Given the description of an element on the screen output the (x, y) to click on. 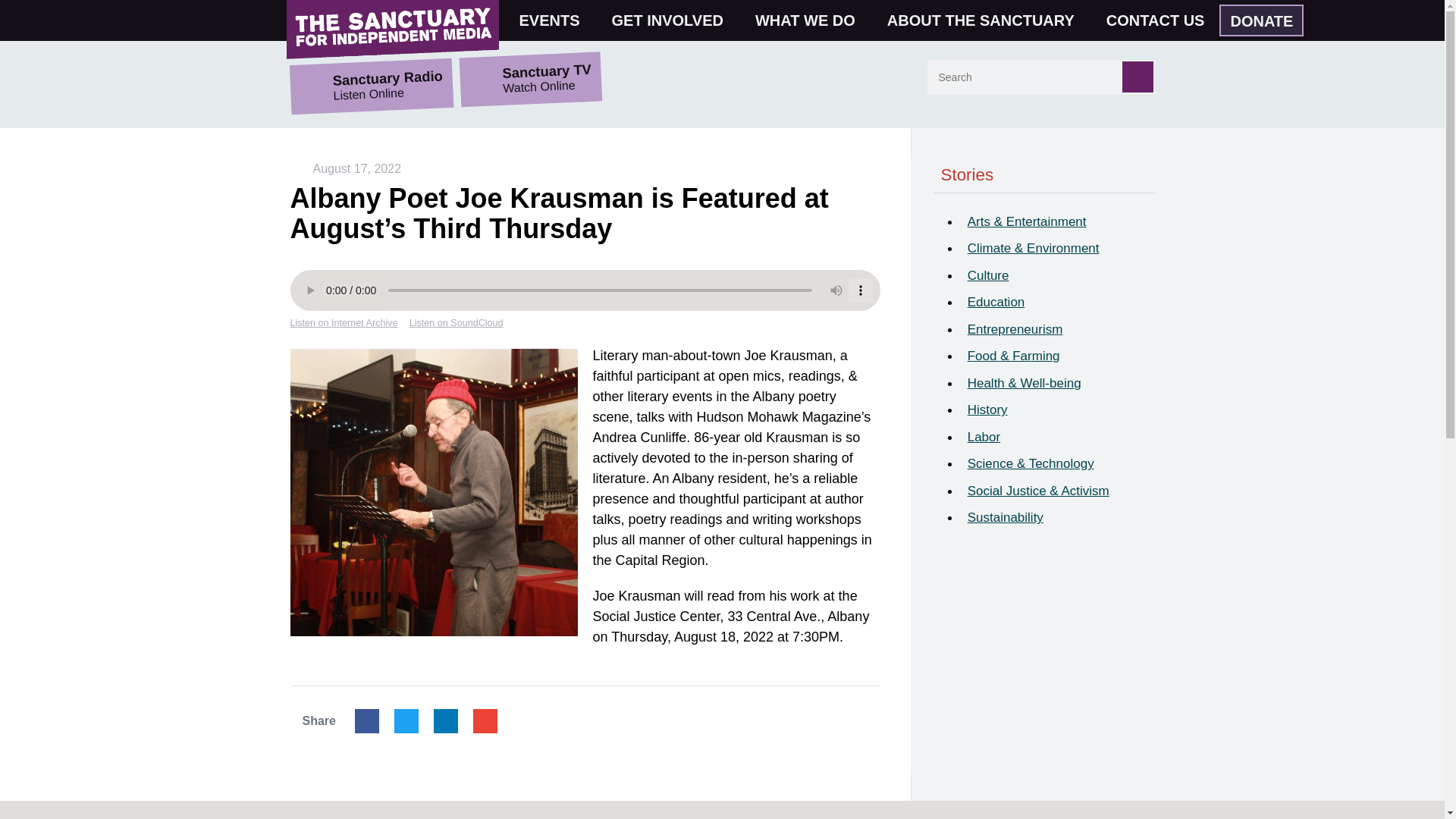
EVENTS (555, 20)
ABOUT THE SANCTUARY (987, 20)
WHAT WE DO (811, 20)
GET INVOLVED (673, 20)
